Given the description of an element on the screen output the (x, y) to click on. 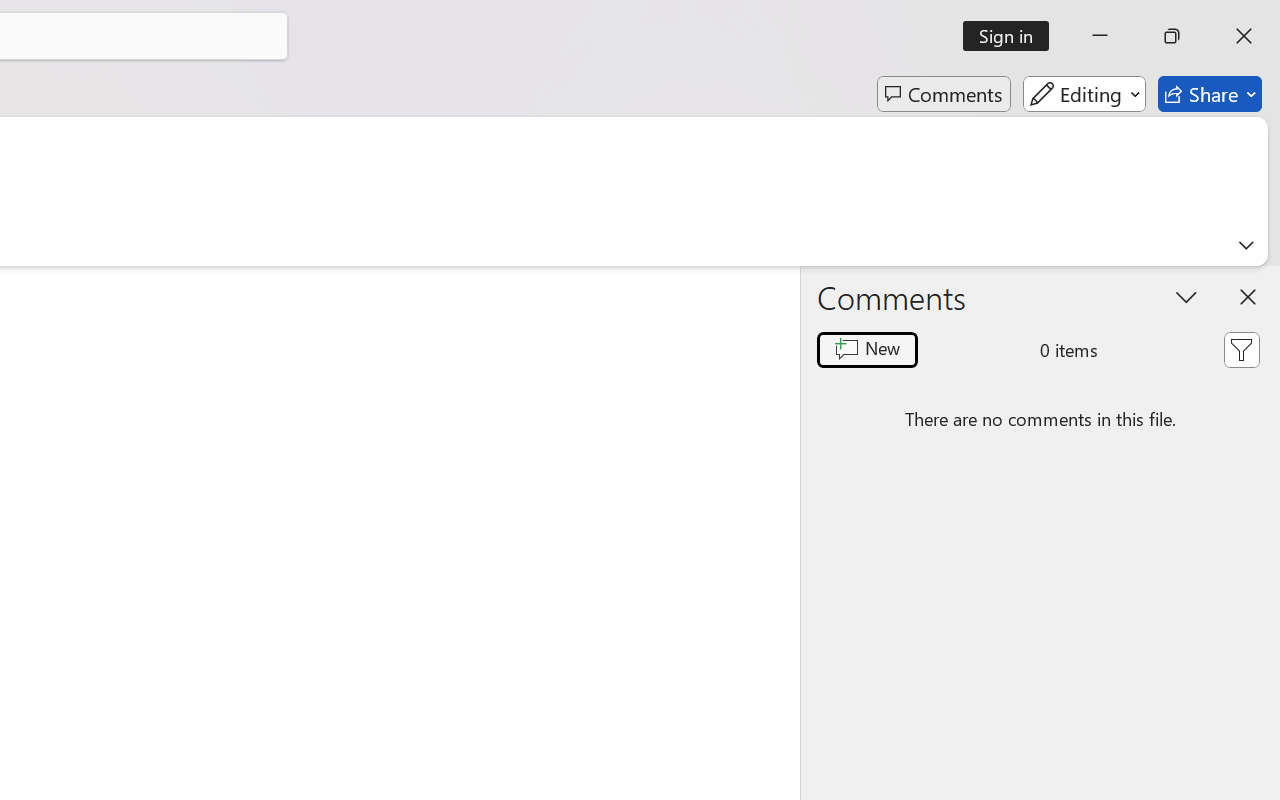
Filter (1241, 350)
New comment (866, 350)
